Given the description of an element on the screen output the (x, y) to click on. 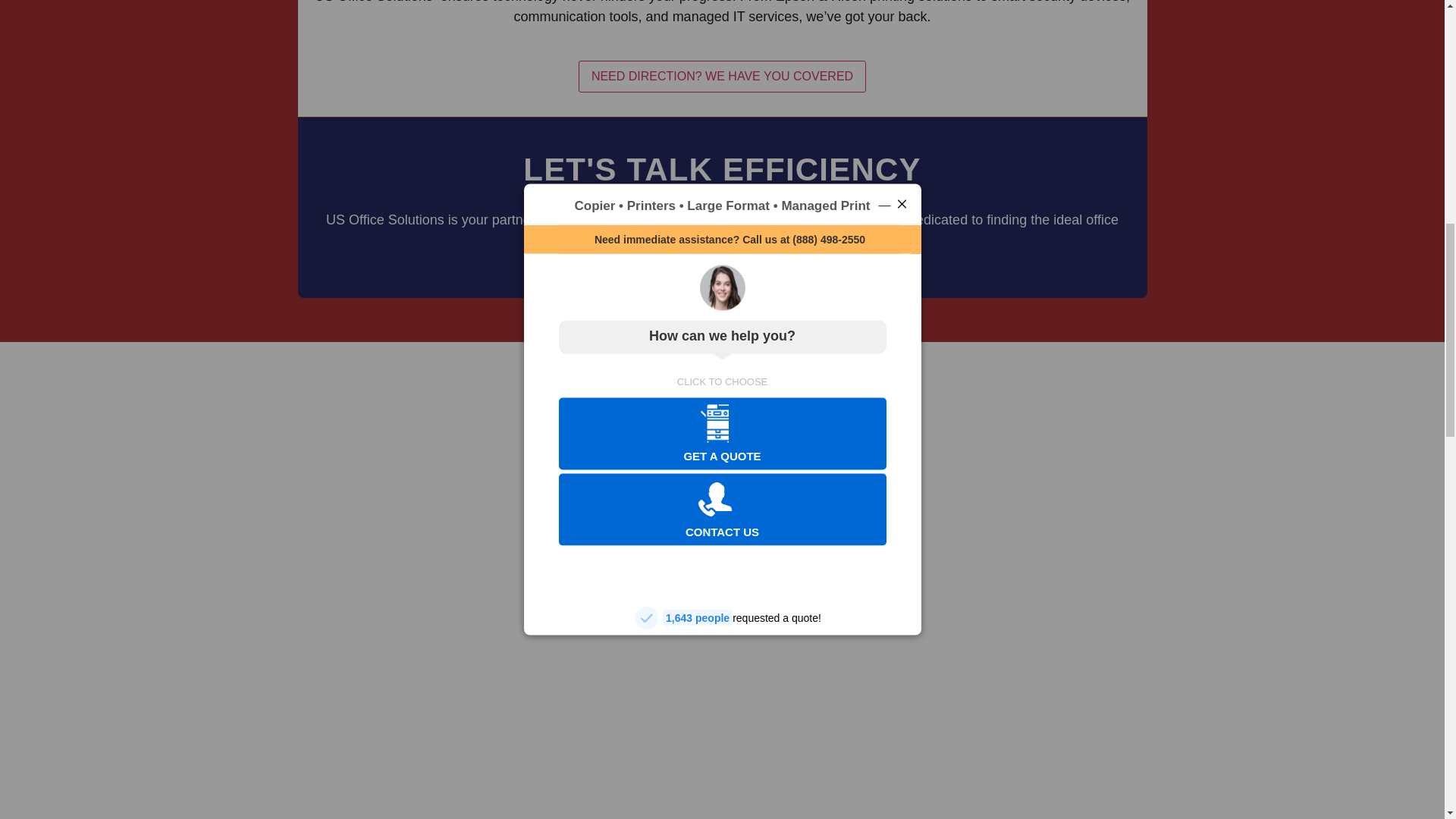
NEED DIRECTION? WE HAVE YOU COVERED (722, 76)
